Given the description of an element on the screen output the (x, y) to click on. 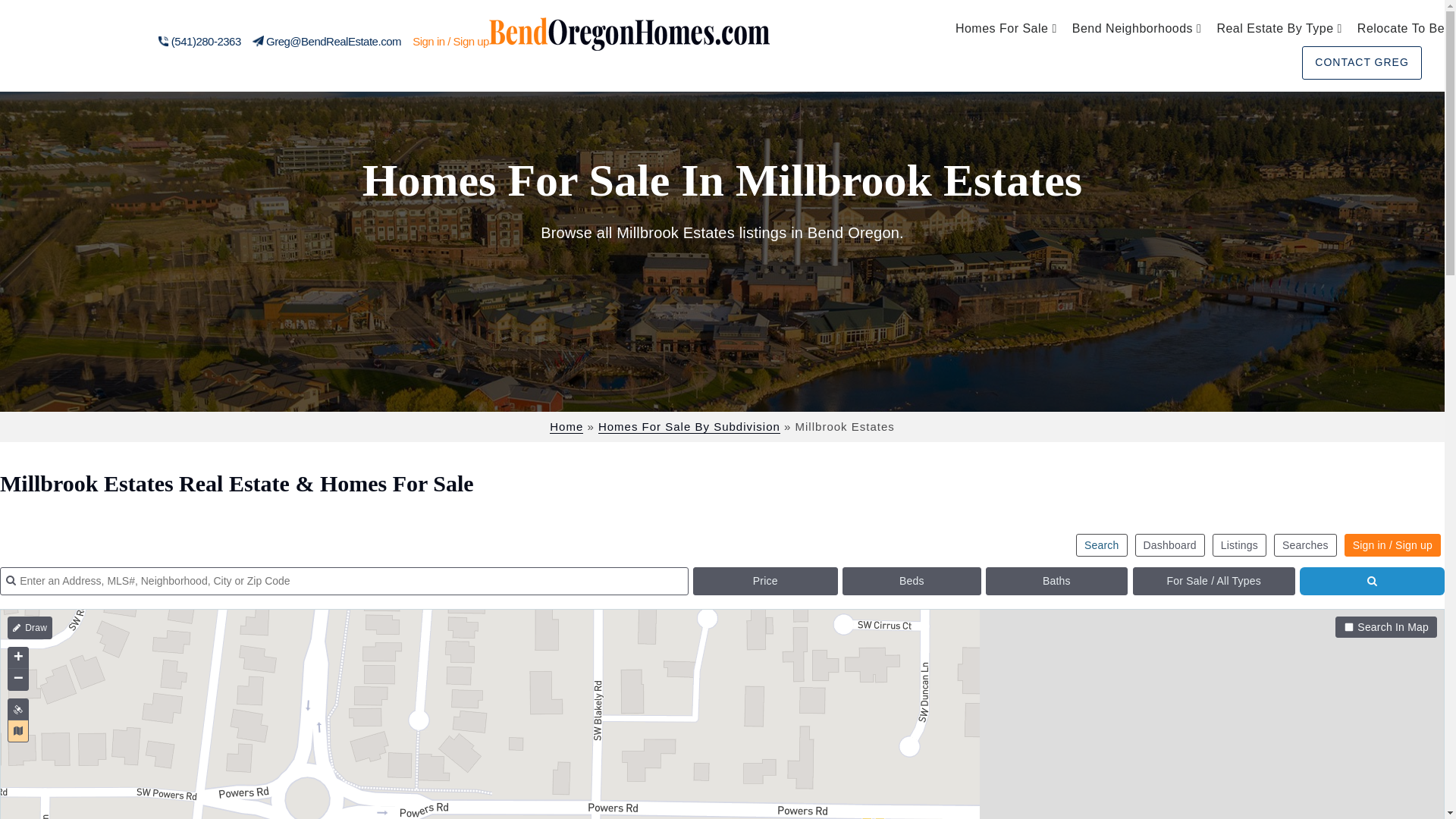
Homes For Sale (1005, 28)
Real Estate By Type (1278, 28)
Bend Neighborhoods (1136, 28)
Homes For Sale (1005, 28)
Real Estate By Type (1278, 28)
CONTACT GREG (1361, 62)
Bend Neighborhoods (1136, 28)
